Given the description of an element on the screen output the (x, y) to click on. 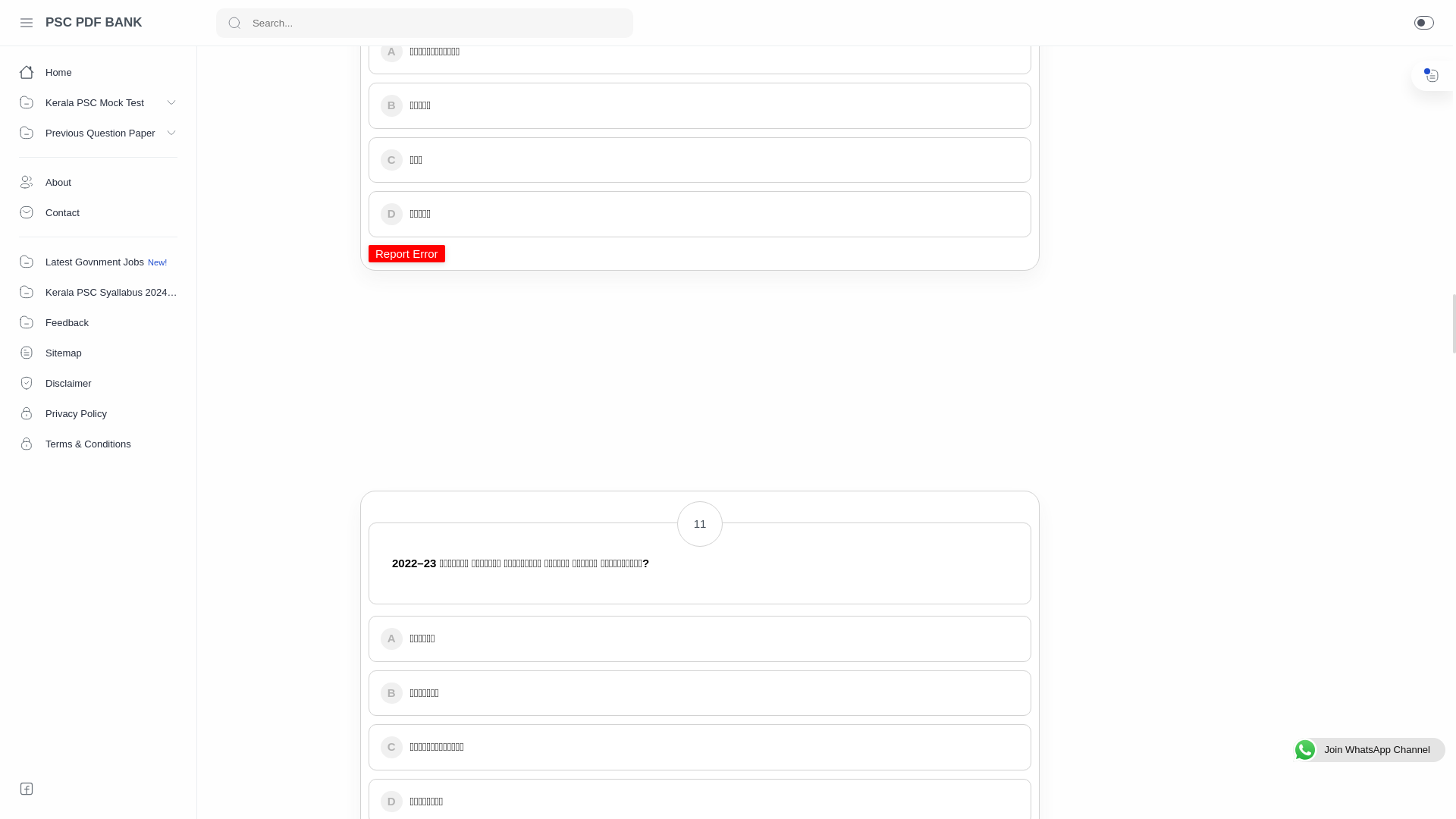
Report Error (406, 253)
